Given the description of an element on the screen output the (x, y) to click on. 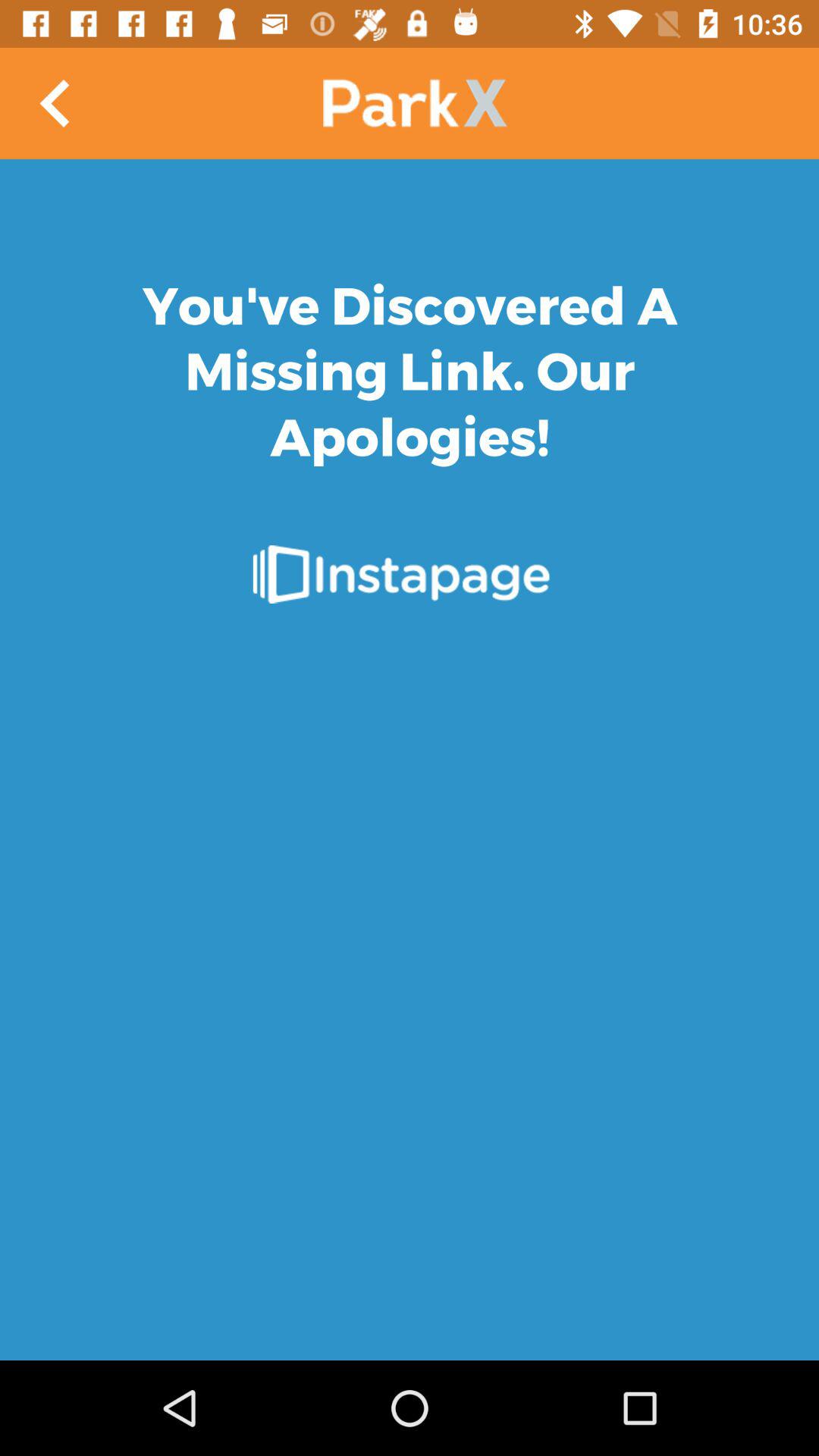
link page (409, 759)
